Given the description of an element on the screen output the (x, y) to click on. 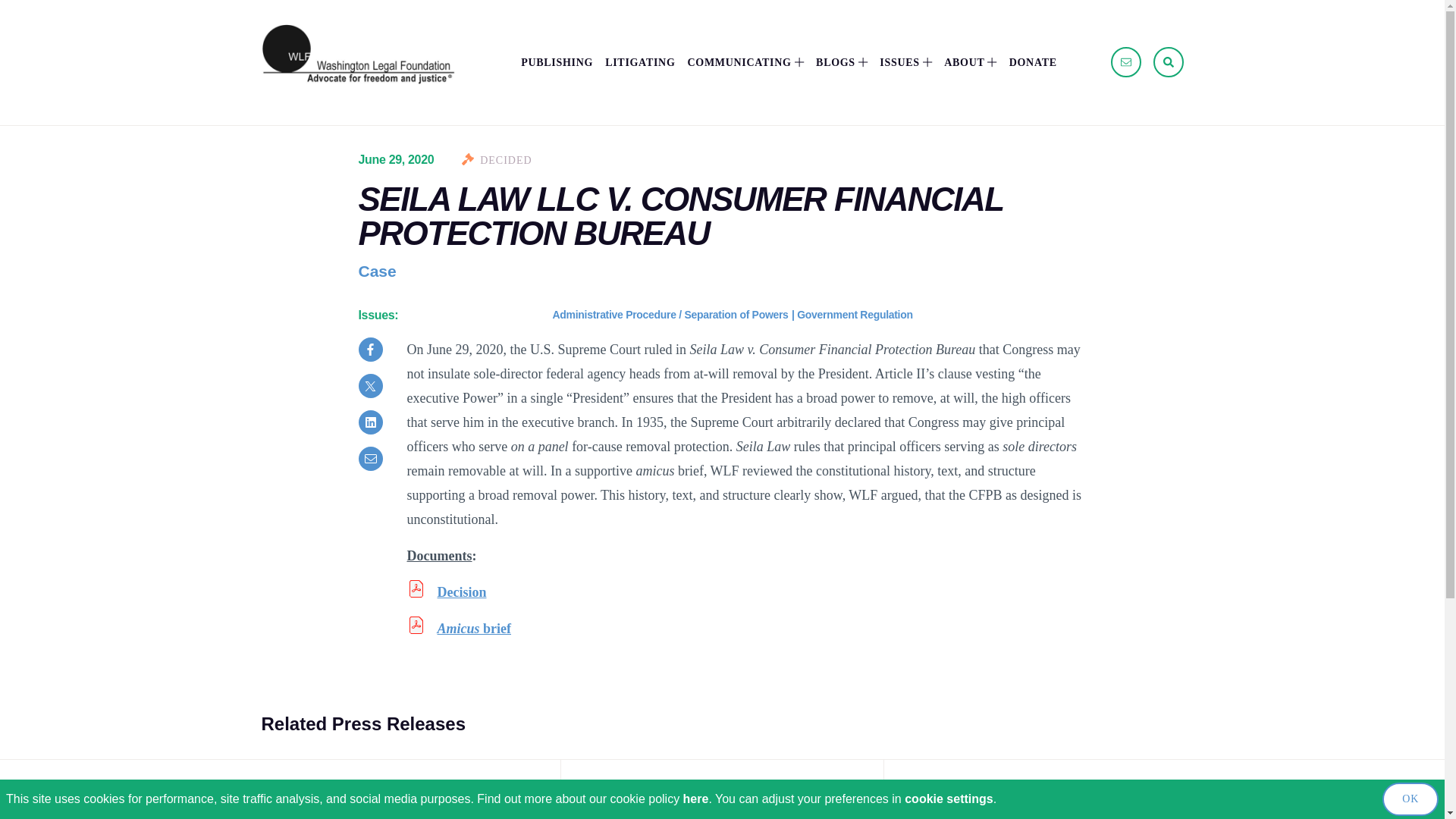
BLOGS (841, 61)
ABOUT (969, 61)
ISSUES (905, 61)
LITIGATING (640, 61)
Government Regulation (854, 314)
DONATE (1033, 61)
COMMUNICATING (745, 61)
PUBLISHING (556, 61)
